Given the description of an element on the screen output the (x, y) to click on. 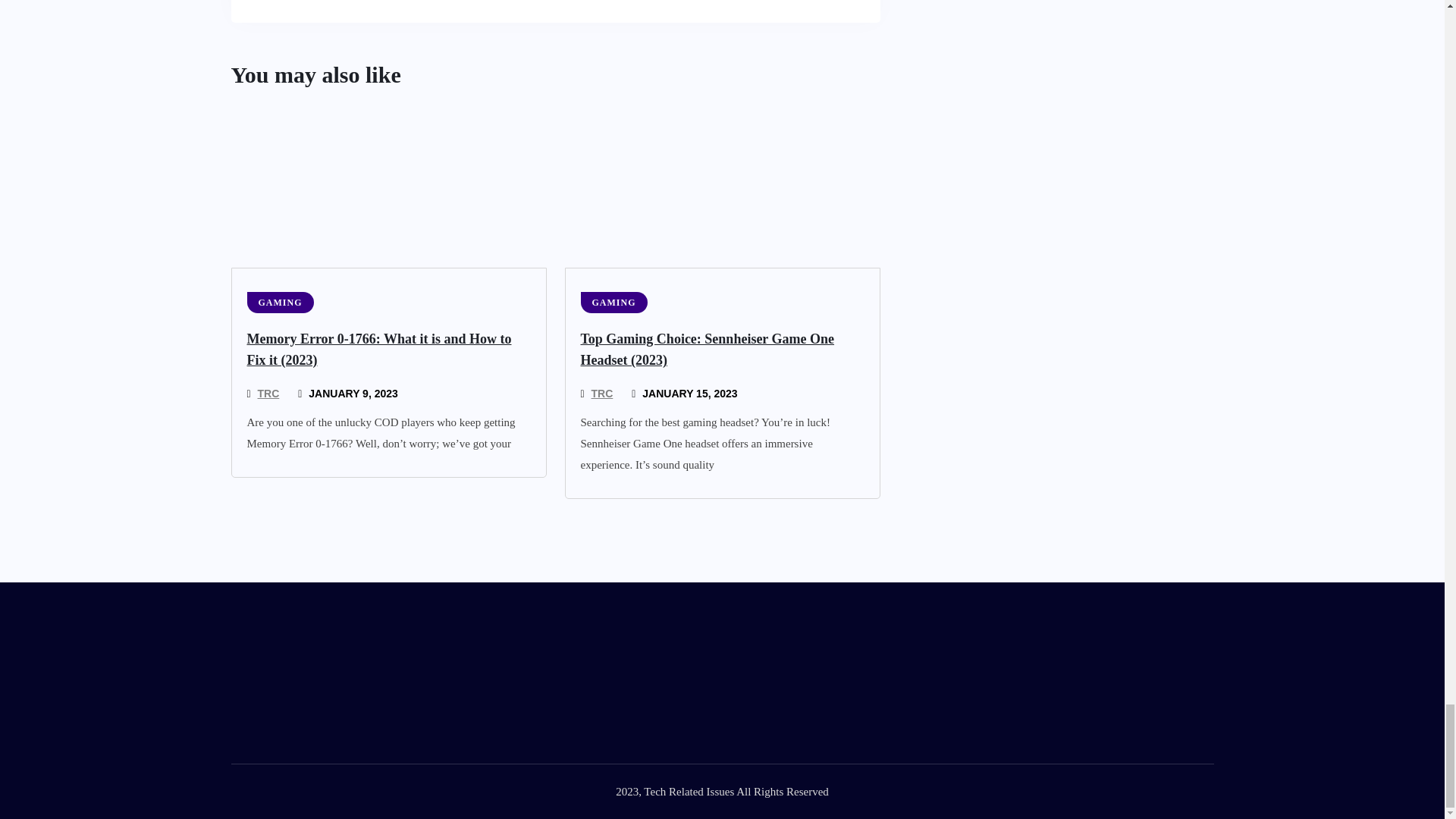
Posts by TRC (601, 393)
Posts by TRC (268, 393)
